Given the description of an element on the screen output the (x, y) to click on. 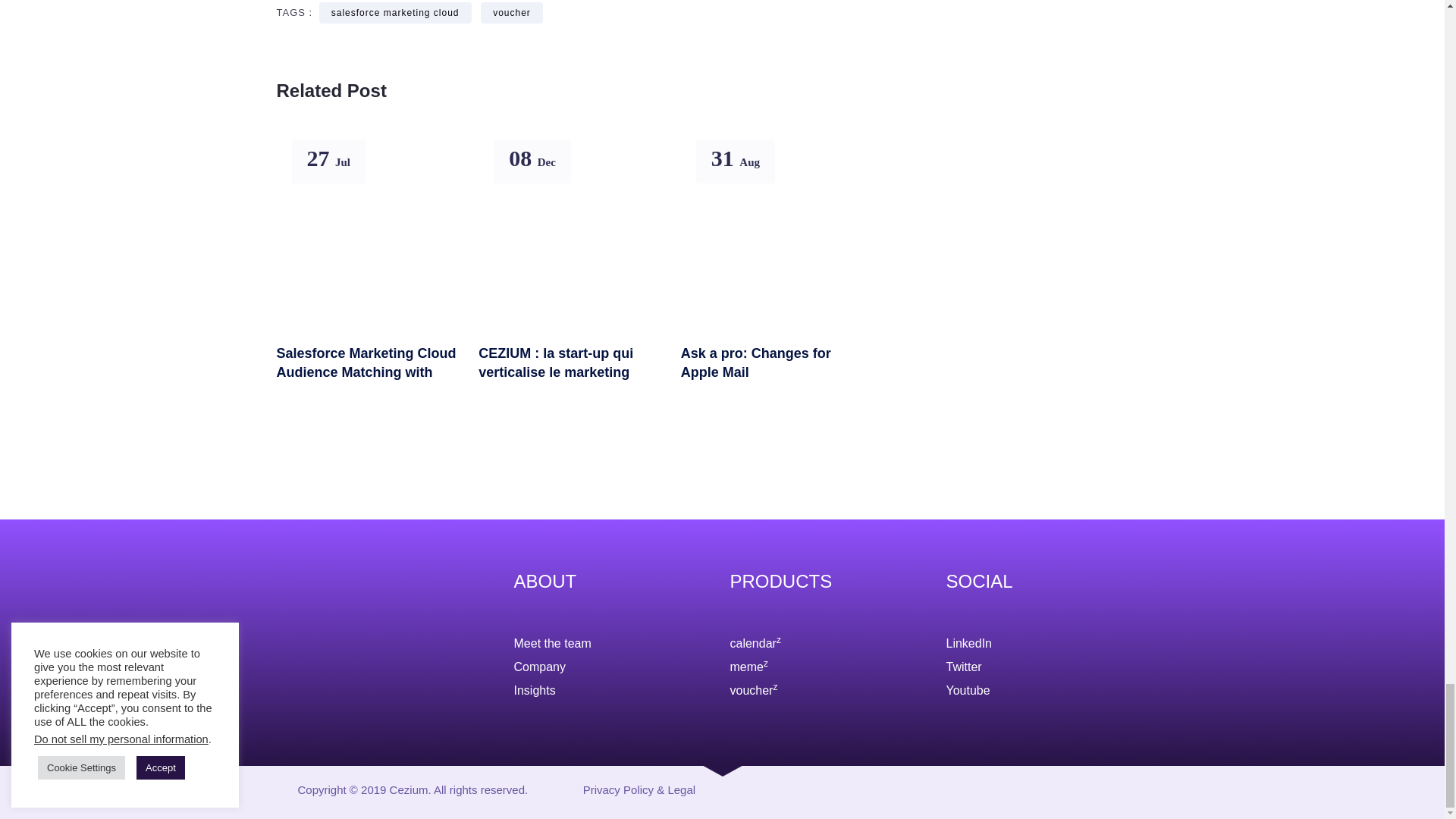
salesforce marketing cloud (394, 12)
Salesforce Marketing Cloud Audience Matching with (368, 357)
CEZIUM : la start-up qui verticalise le marketing (570, 357)
Ask a pro: Changes for Apple Mail (772, 357)
Ask a pro: Changes for Apple Mail (772, 357)
voucher (511, 12)
